Given the description of an element on the screen output the (x, y) to click on. 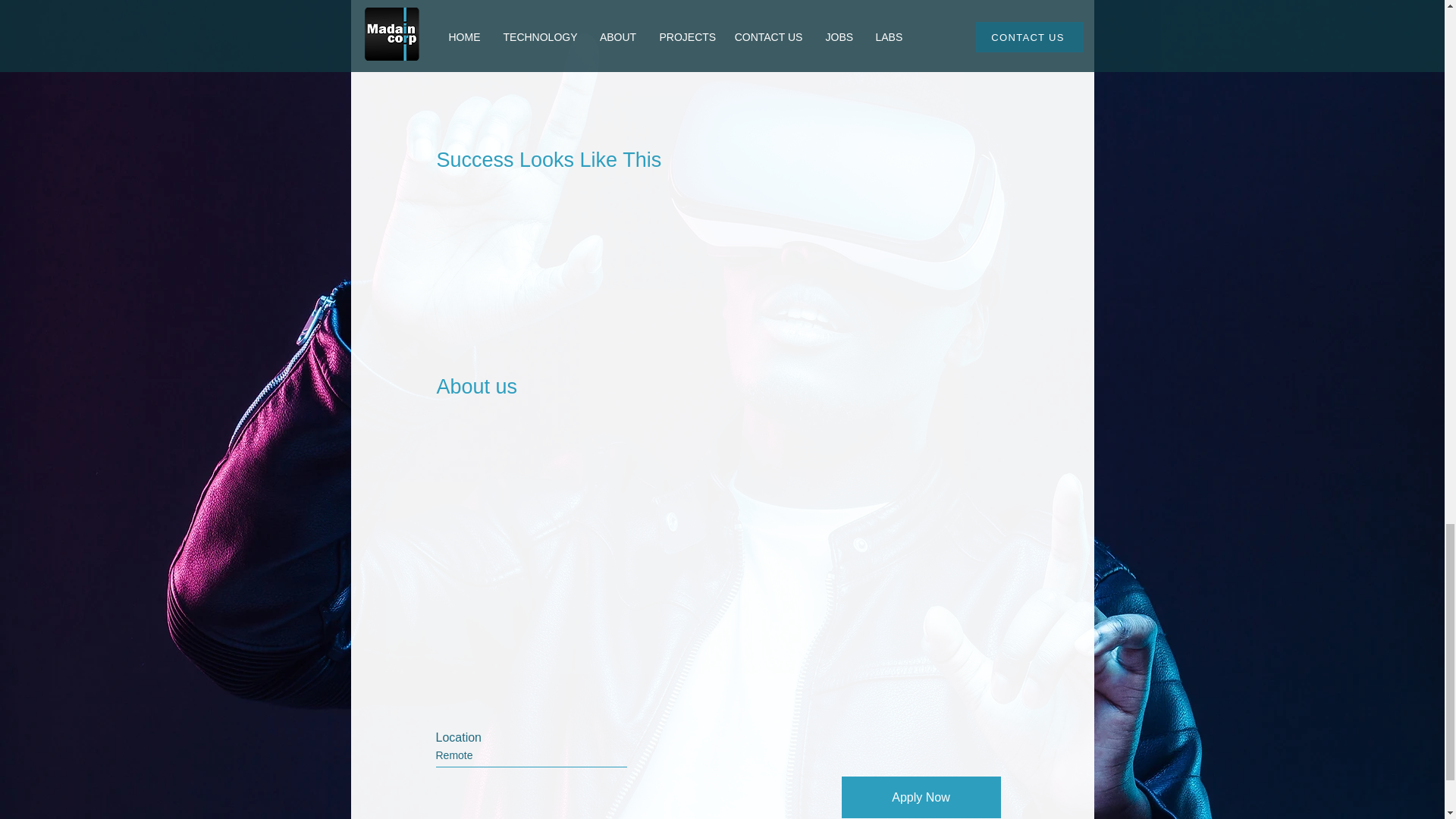
Apply Now (921, 797)
